Given the description of an element on the screen output the (x, y) to click on. 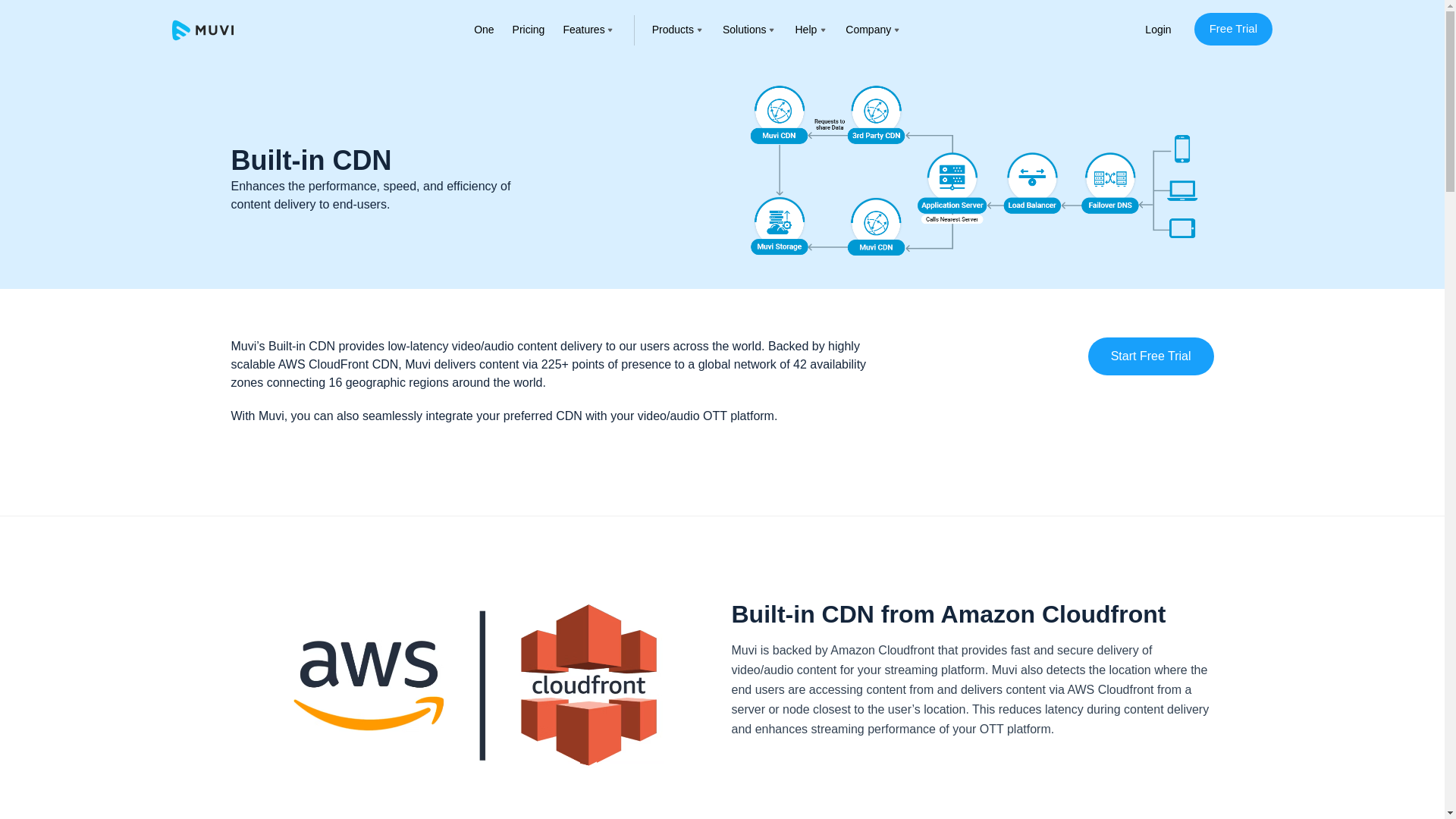
Features (583, 29)
One (483, 29)
Solutions (744, 29)
Products (673, 29)
Pricing (528, 29)
